Given the description of an element on the screen output the (x, y) to click on. 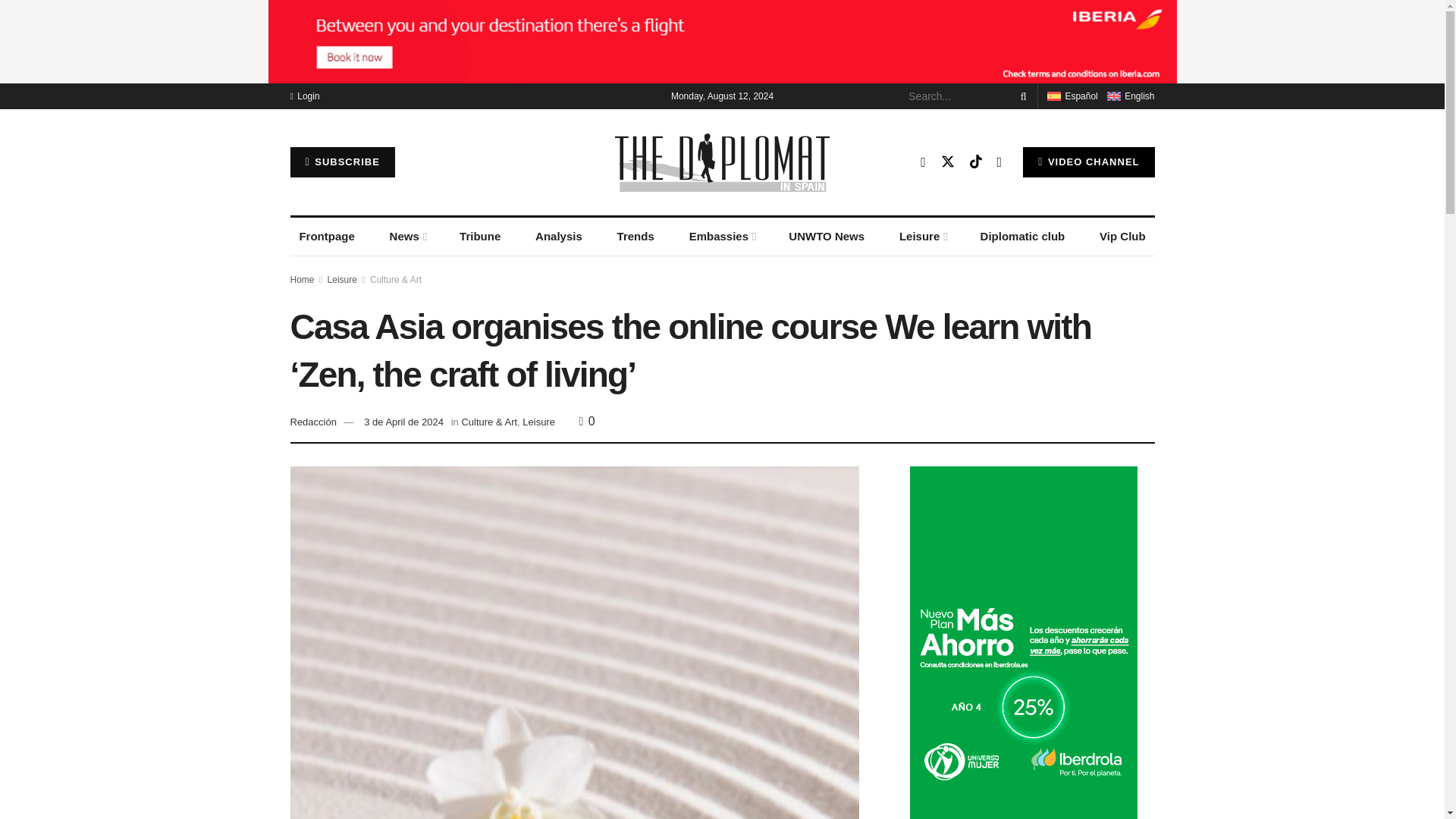
Embassies (720, 236)
English (1130, 95)
News (406, 236)
Analysis (558, 236)
SUBSCRIBE (341, 162)
Login (303, 95)
Leisure (922, 236)
Tribune (479, 236)
English (1113, 95)
VIDEO CHANNEL (1088, 162)
